Given the description of an element on the screen output the (x, y) to click on. 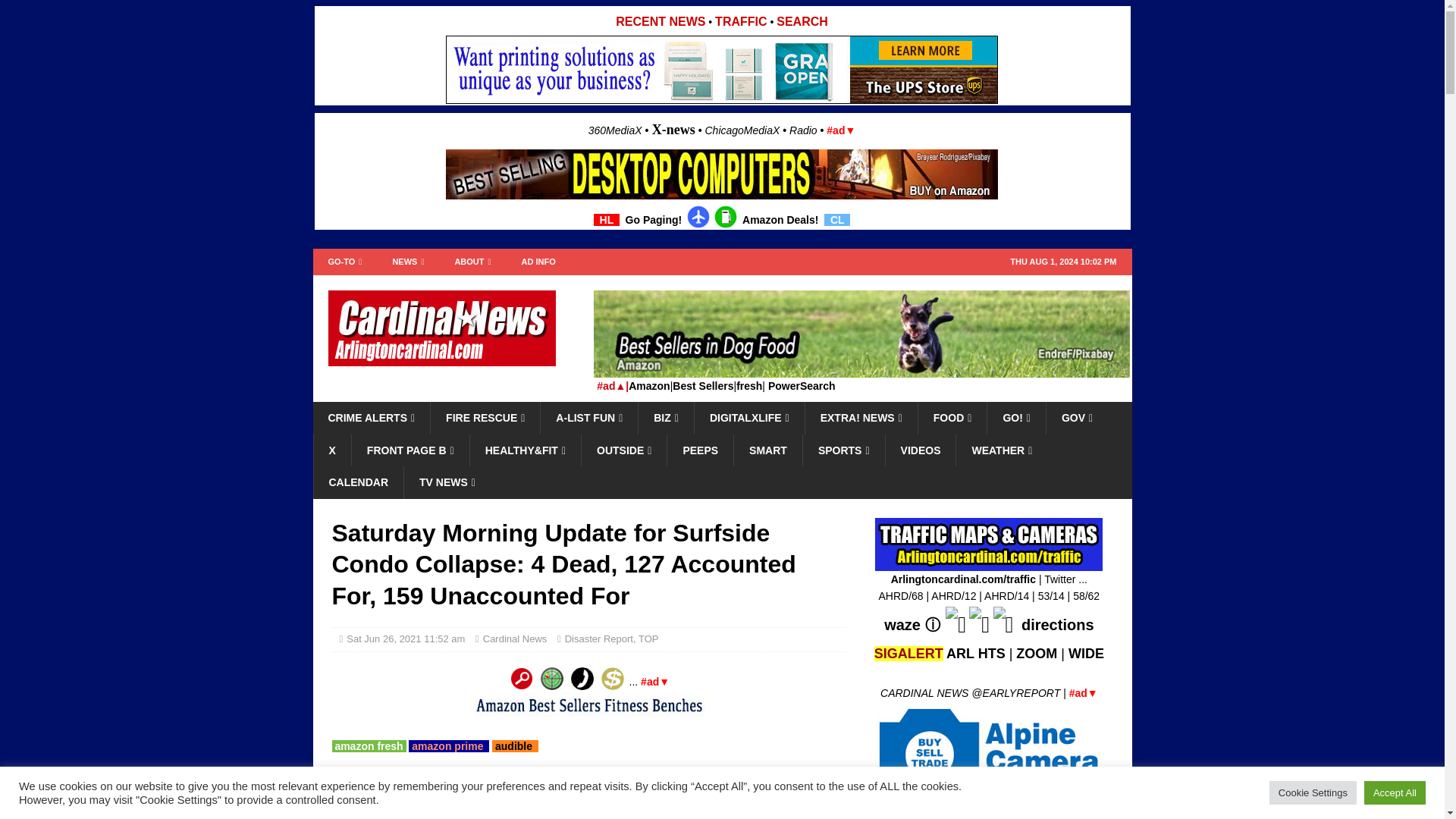
Go Paging! (654, 219)
SEARCH (802, 21)
  CL   (837, 219)
360MediaX (616, 130)
ChicagoMediaX (742, 130)
Amazon Deals! (780, 219)
  HL   (607, 219)
RECENT NEWS (659, 21)
TRAFFIC (740, 21)
X-news (673, 129)
Radio (802, 130)
